Given the description of an element on the screen output the (x, y) to click on. 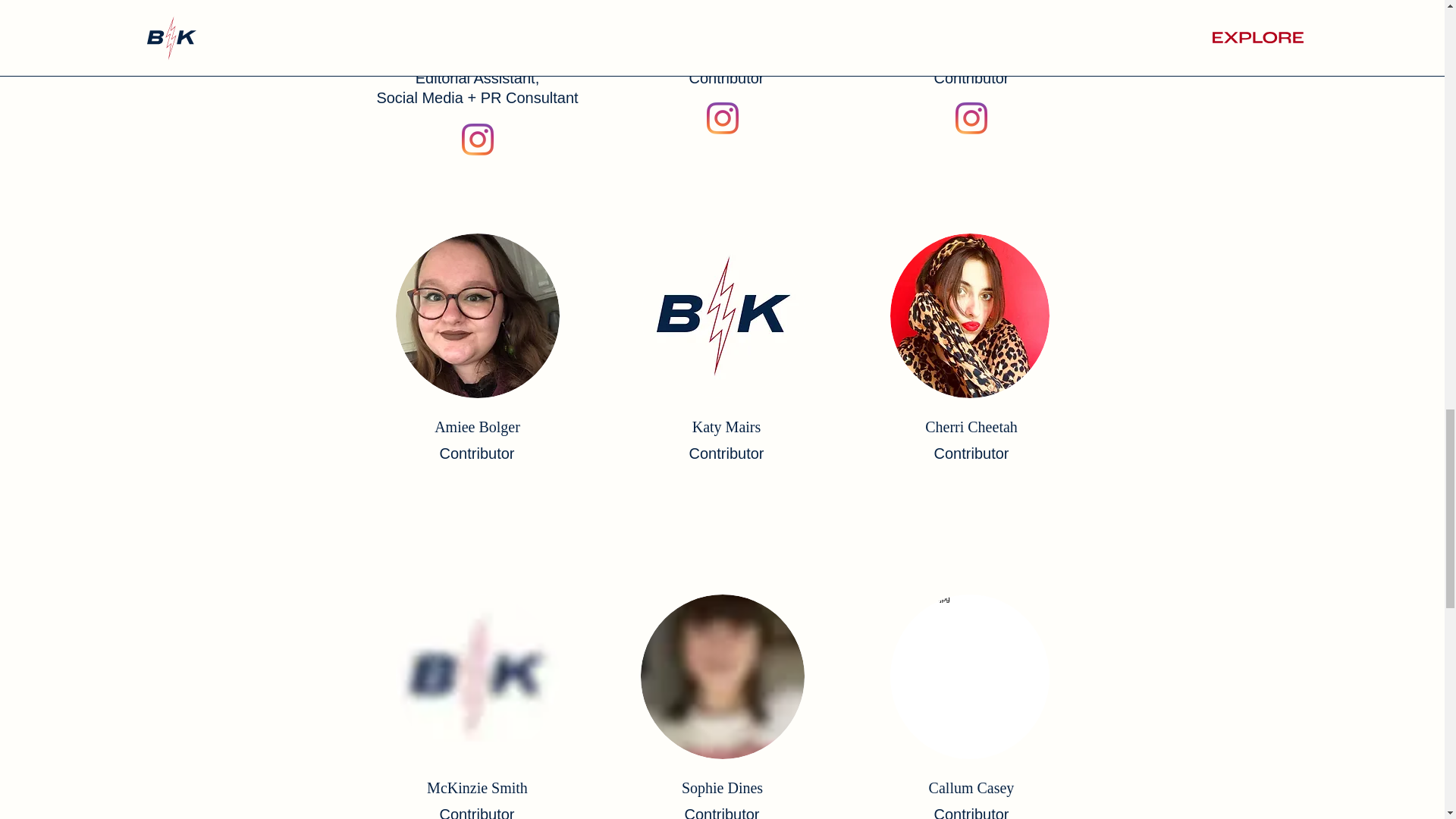
guy2.jpg (477, 676)
guy3.jpg (969, 676)
guy4.jpg (723, 11)
guy3.jpg (969, 11)
guy2.jpg (477, 315)
guy4.jpg (723, 315)
guy3.jpg (969, 315)
guy2.jpg (477, 11)
guy2.jpg (721, 676)
